Given the description of an element on the screen output the (x, y) to click on. 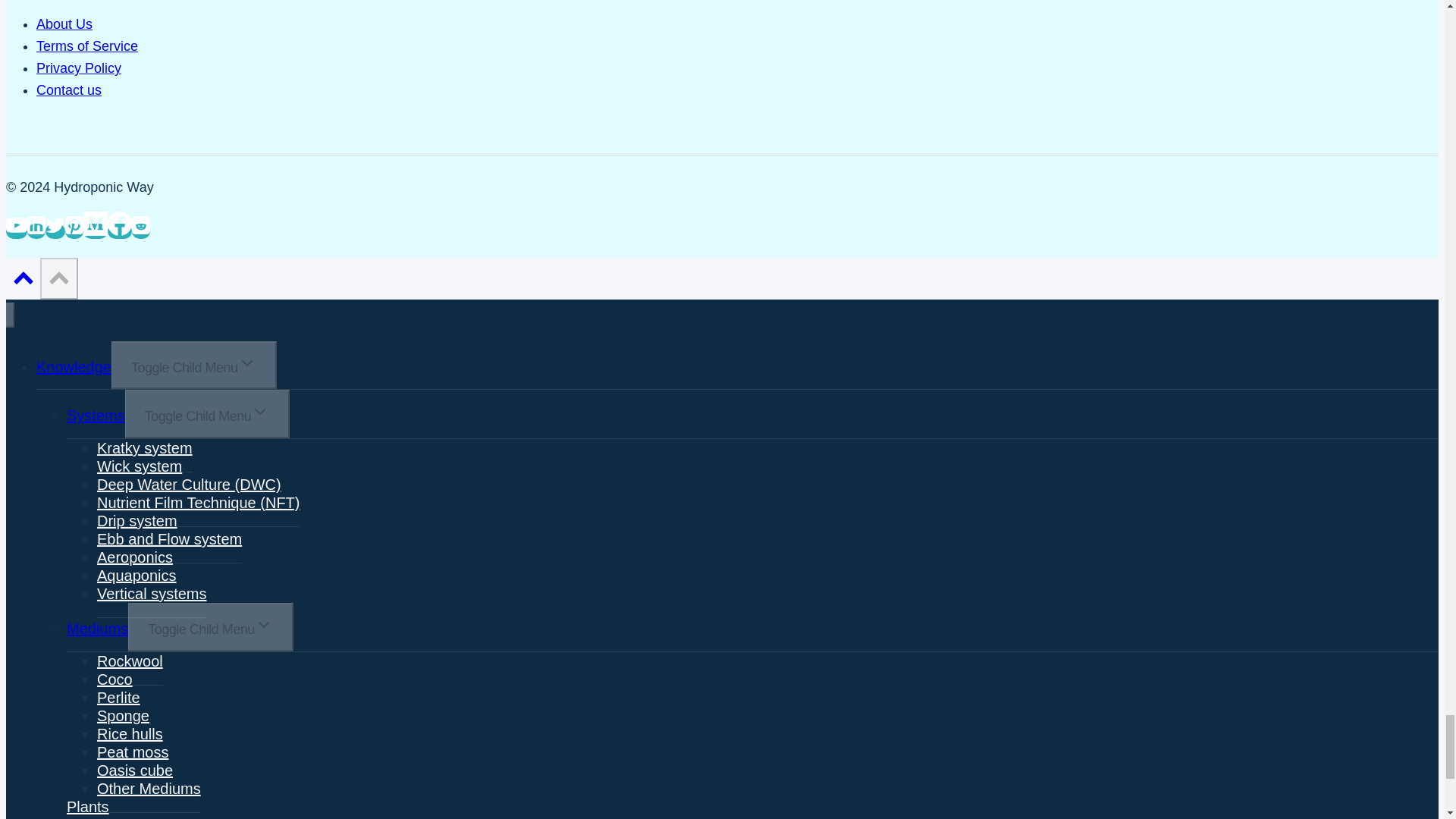
Scroll To Top (58, 278)
Scroll to top (22, 281)
